Given the description of an element on the screen output the (x, y) to click on. 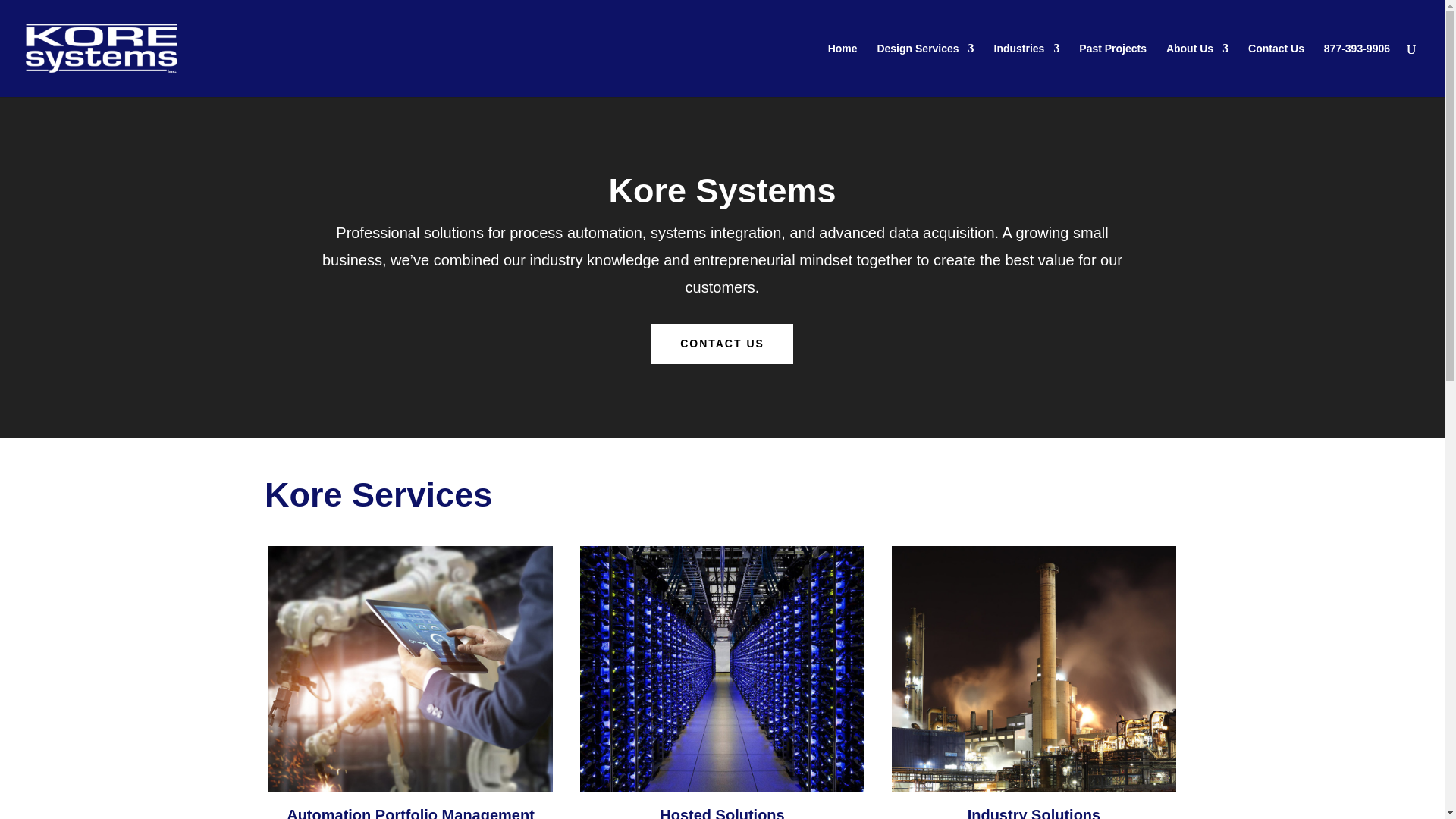
Design Services (925, 70)
About Us (1197, 70)
Past Projects (1112, 70)
Industries (1025, 70)
877-393-9906 (1356, 70)
Contact Us (1275, 70)
